Given the description of an element on the screen output the (x, y) to click on. 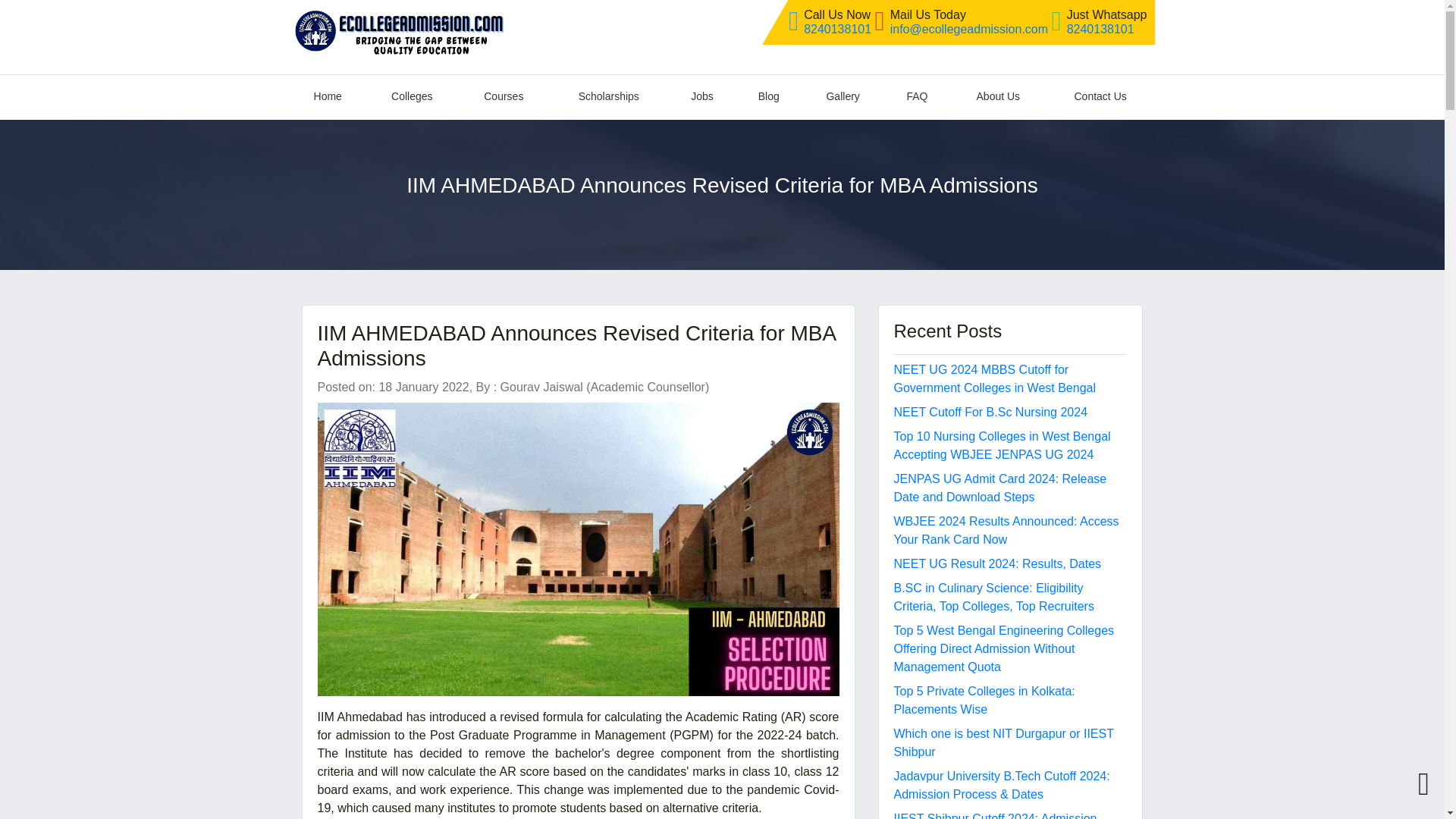
IIEST Shibpur Cutoff 2024: Admission Process and Updates (994, 815)
Contact Us (1100, 97)
Courses (503, 97)
Scholarships (608, 97)
WBJEE 2024 Results Announced: Access Your Rank Card Now (1005, 530)
8240138101 (836, 29)
Jobs (702, 97)
8240138101 (1100, 29)
FAQ (916, 97)
NEET Cutoff For B.Sc Nursing 2024 (990, 411)
Home (327, 97)
JENPAS UG Admit Card 2024: Release Date and Download Steps (999, 487)
